Given the description of an element on the screen output the (x, y) to click on. 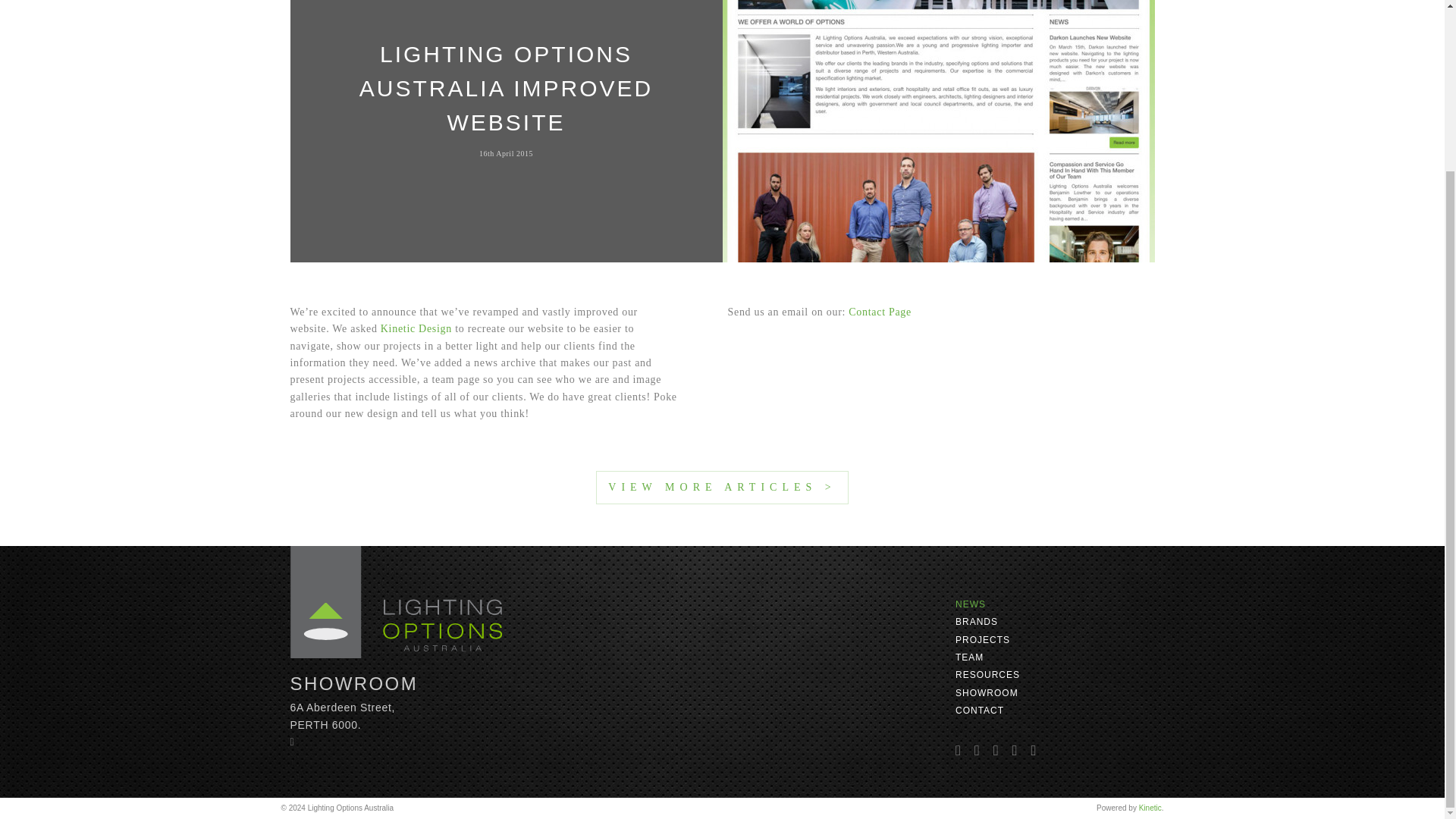
TEAM (969, 656)
CONTACT (979, 710)
PROJECTS (982, 639)
Kinetic Design (415, 328)
Kinetic (1149, 807)
Contact Page (879, 311)
BRANDS (976, 621)
SHOWROOM (986, 692)
Click here to return home. (395, 602)
RESOURCES (987, 674)
